Given the description of an element on the screen output the (x, y) to click on. 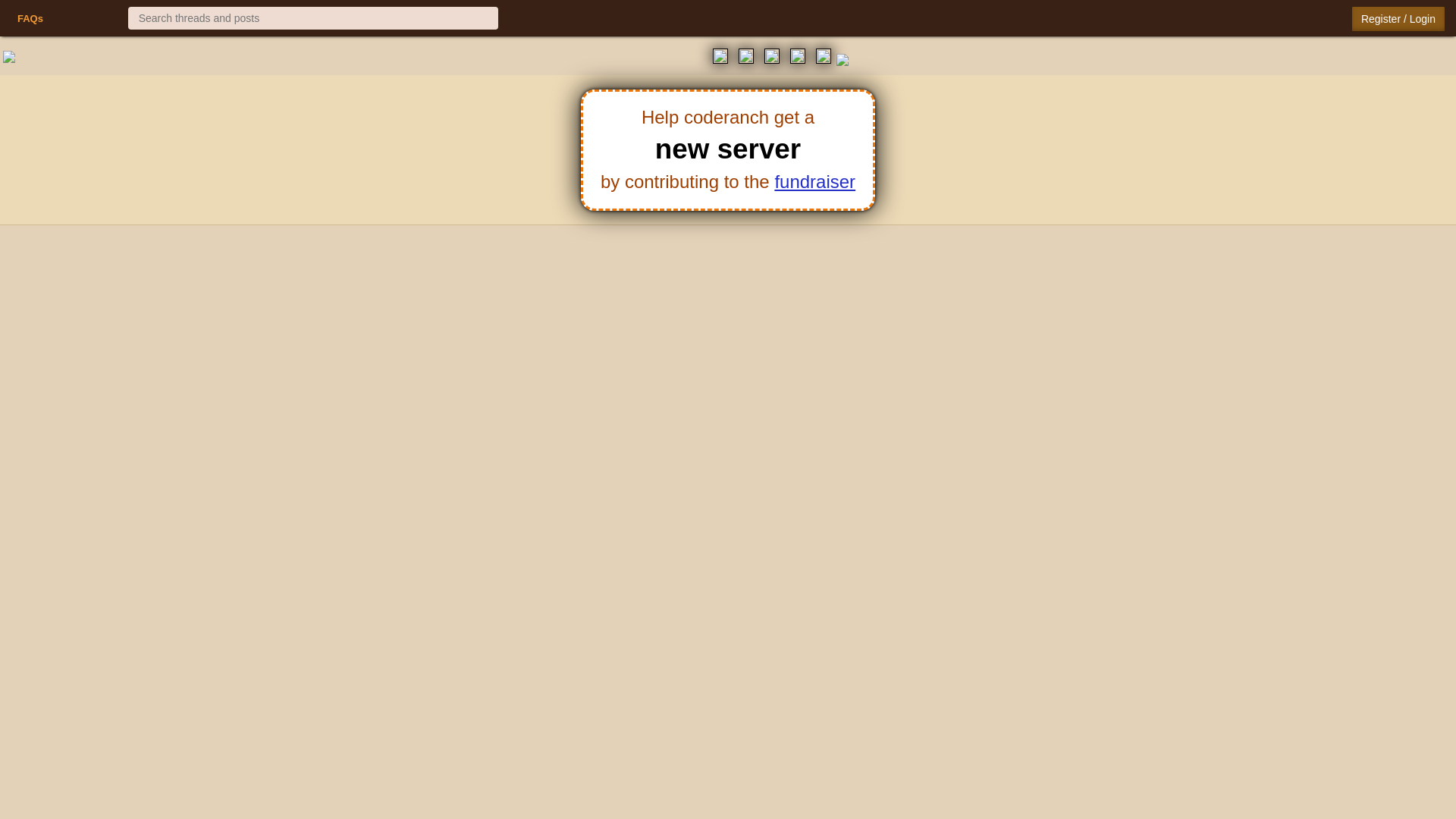
fundraiser (815, 181)
Pie (69, 18)
